Given the description of an element on the screen output the (x, y) to click on. 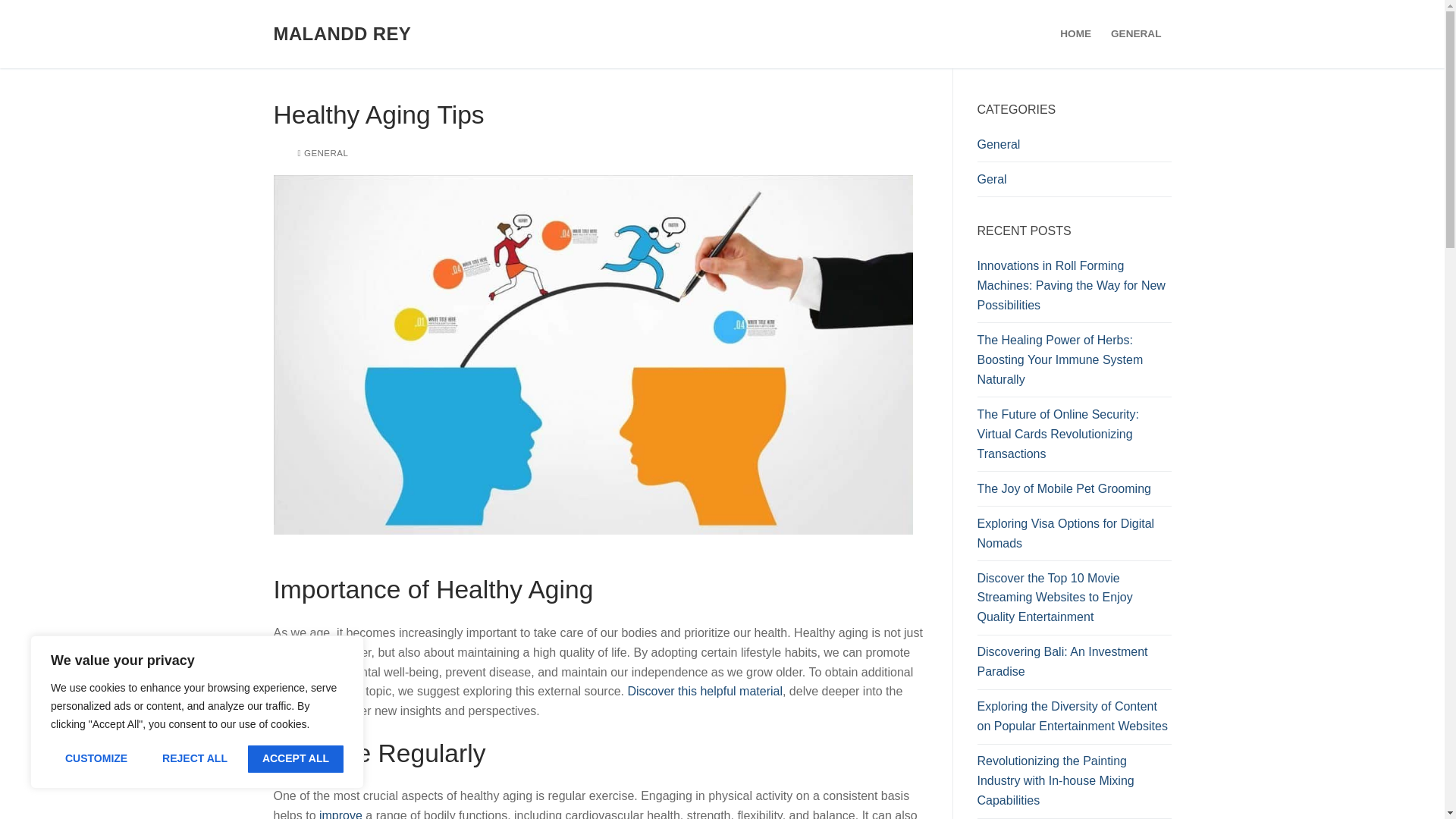
ACCEPT ALL (295, 759)
CUSTOMIZE (95, 759)
REJECT ALL (194, 759)
Geral (1073, 183)
GENERAL (322, 153)
General (1073, 148)
MALANDD REY (341, 33)
GENERAL (1135, 33)
